Given the description of an element on the screen output the (x, y) to click on. 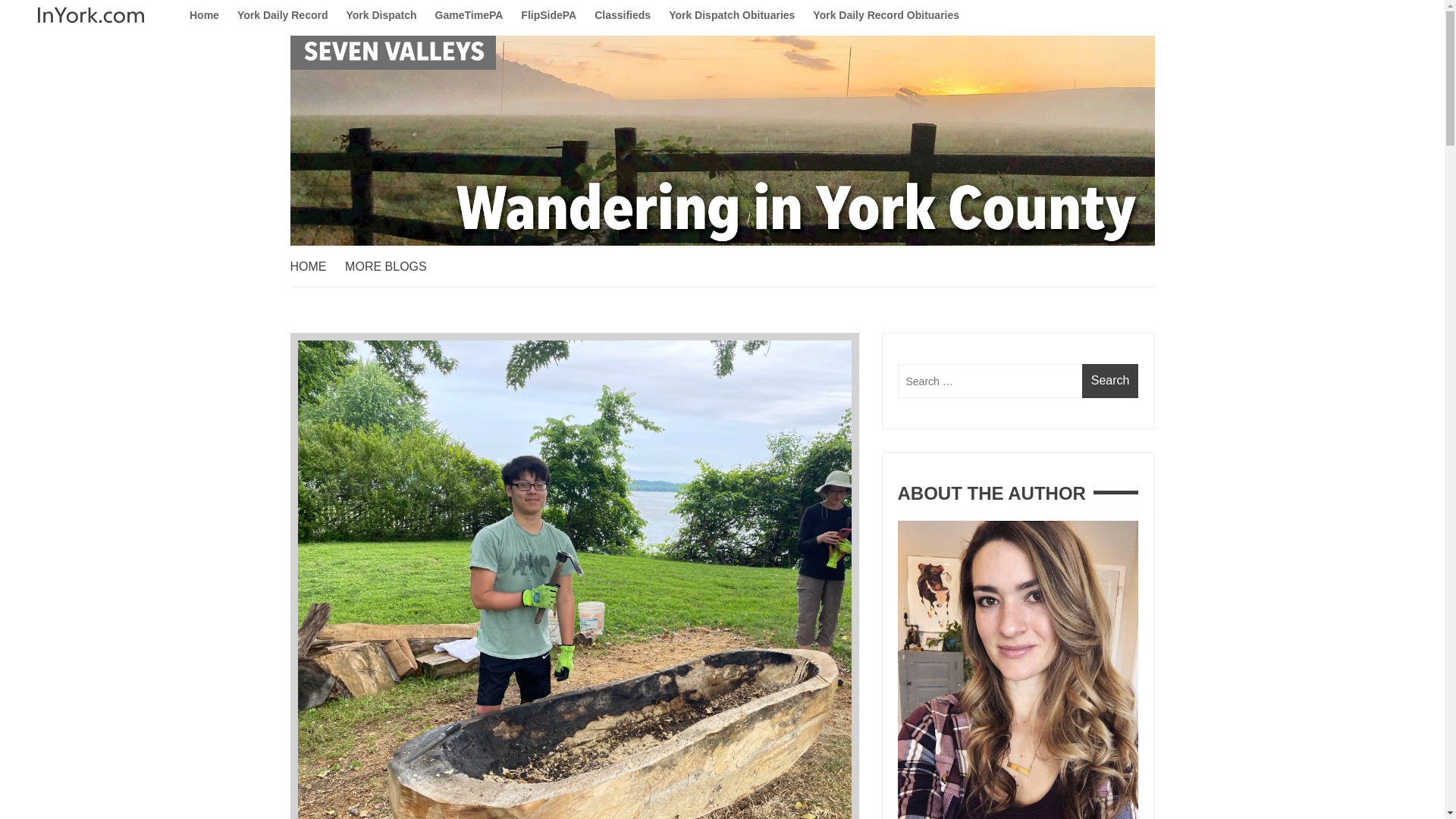
Search (1109, 380)
MORE BLOGS (393, 266)
Wandering in York County (394, 290)
Search (1109, 380)
Search (1109, 380)
HOME (314, 266)
